Given the description of an element on the screen output the (x, y) to click on. 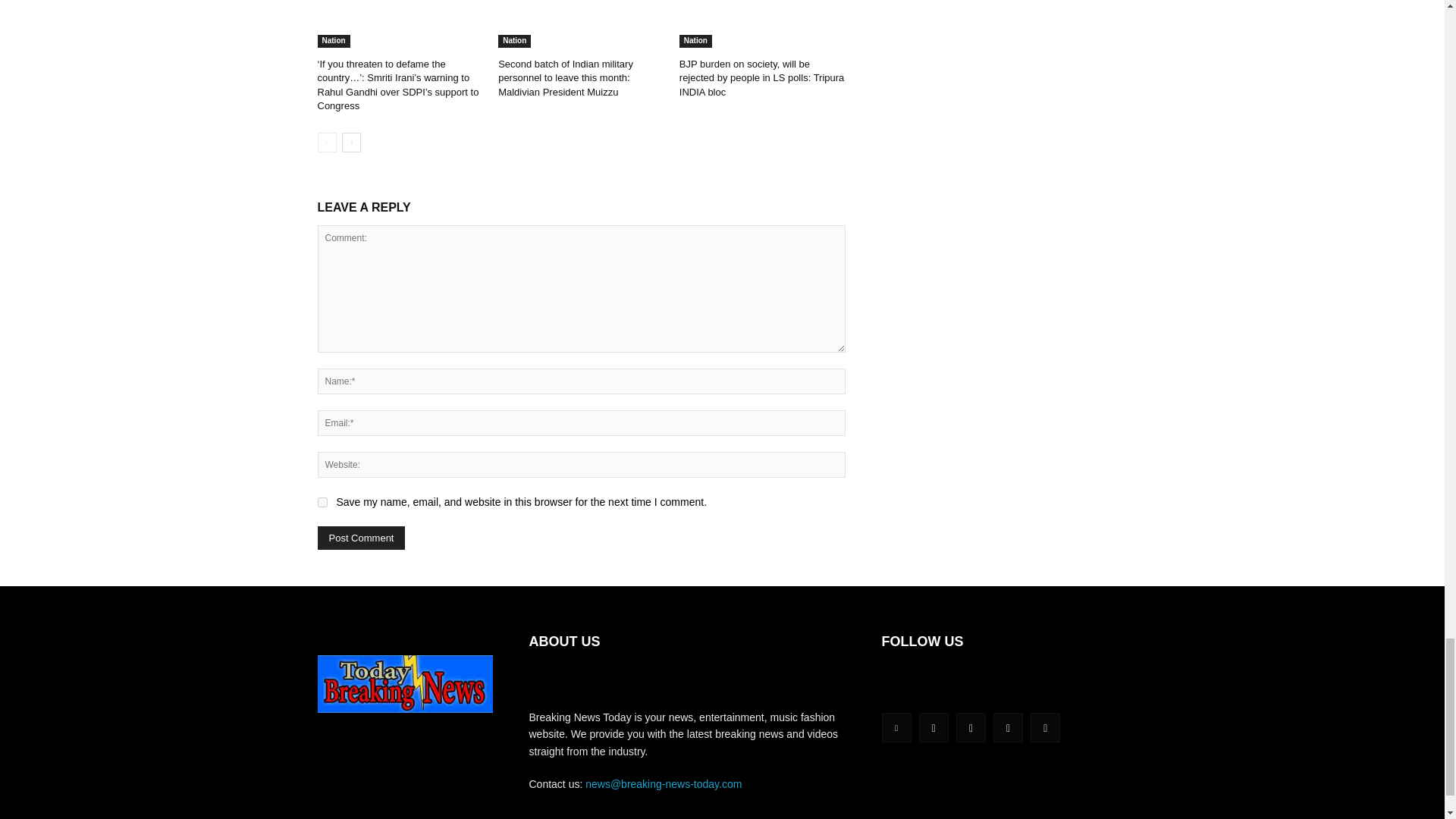
yes (321, 501)
Post Comment (360, 537)
